Given the description of an element on the screen output the (x, y) to click on. 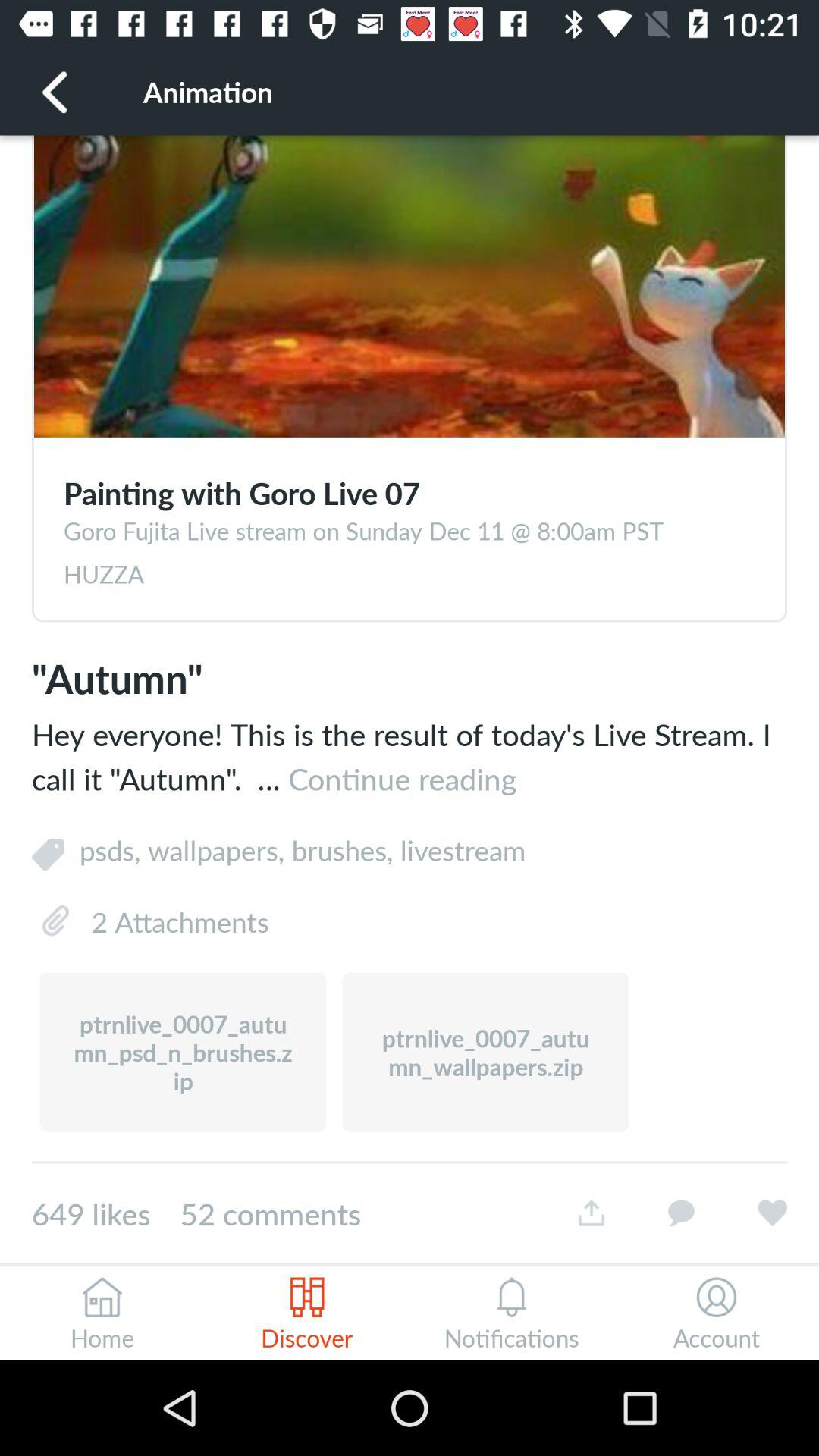
scroll until psds wallpapers brushes icon (433, 849)
